Given the description of an element on the screen output the (x, y) to click on. 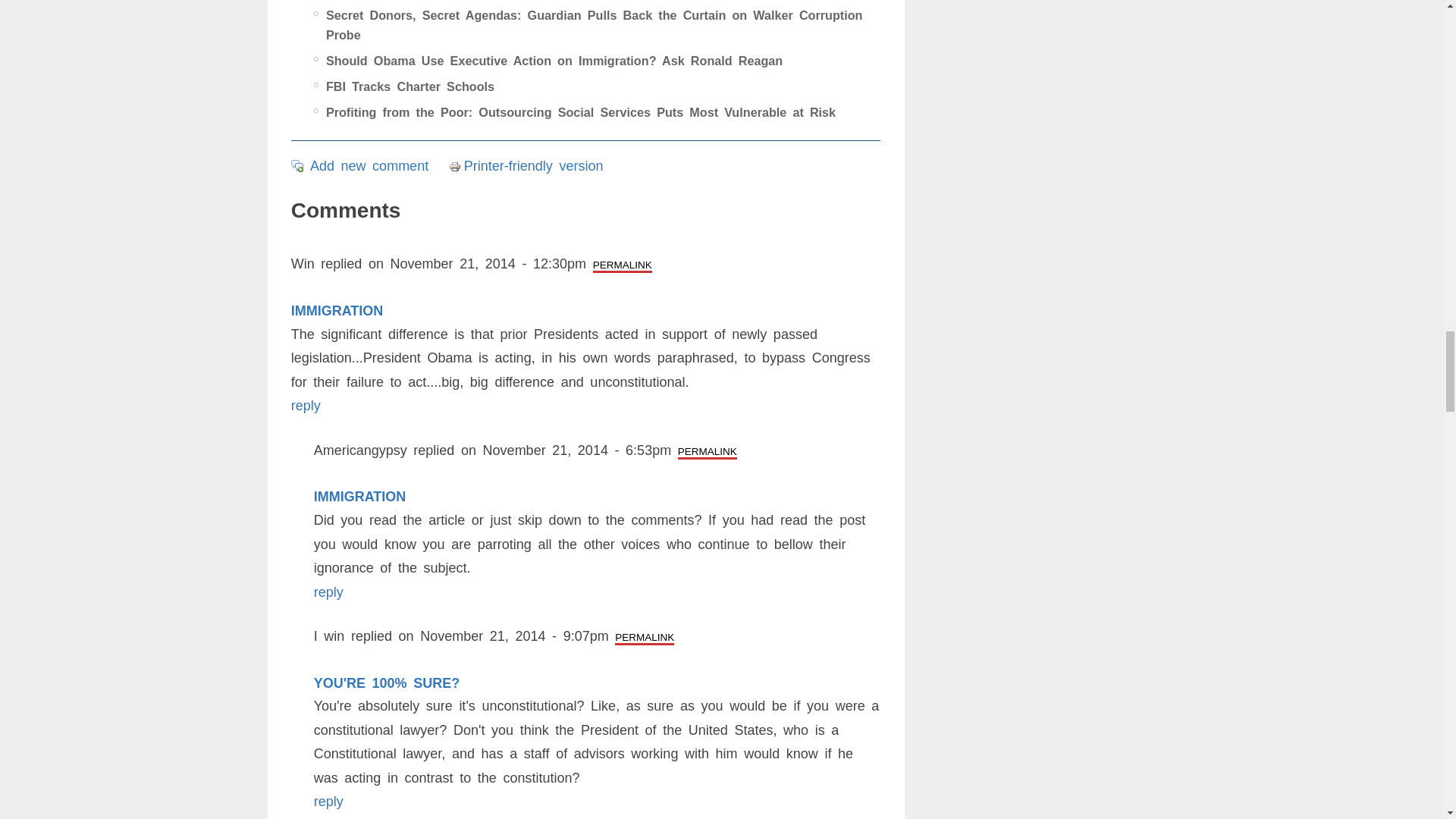
Printer-friendly version (456, 166)
Share your thoughts and opinions related to this posting. (369, 165)
Display a printer-friendly version of this page. (526, 165)
